Given the description of an element on the screen output the (x, y) to click on. 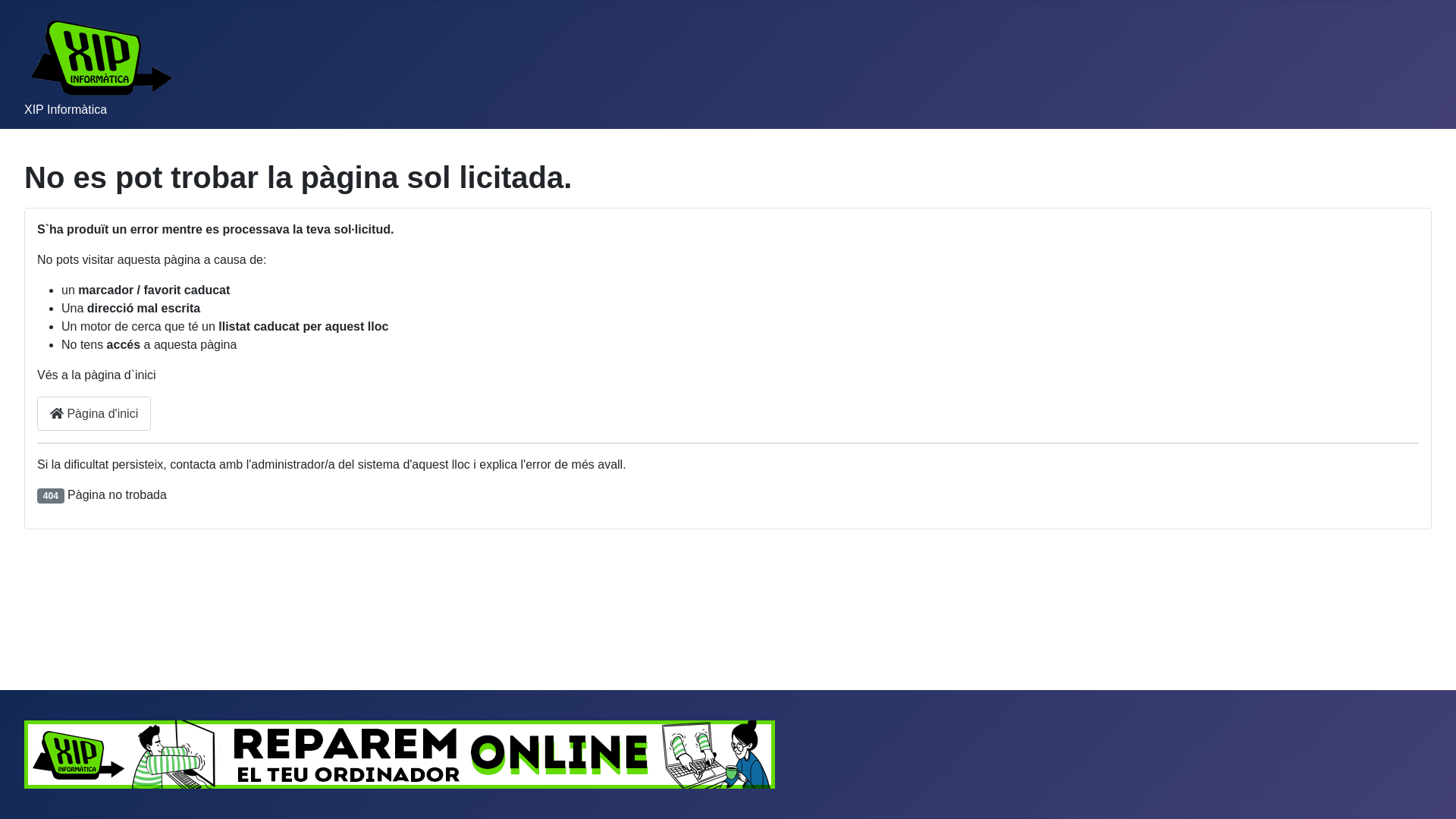
Banner XIP-Remot Element type: hover (399, 752)
